Given the description of an element on the screen output the (x, y) to click on. 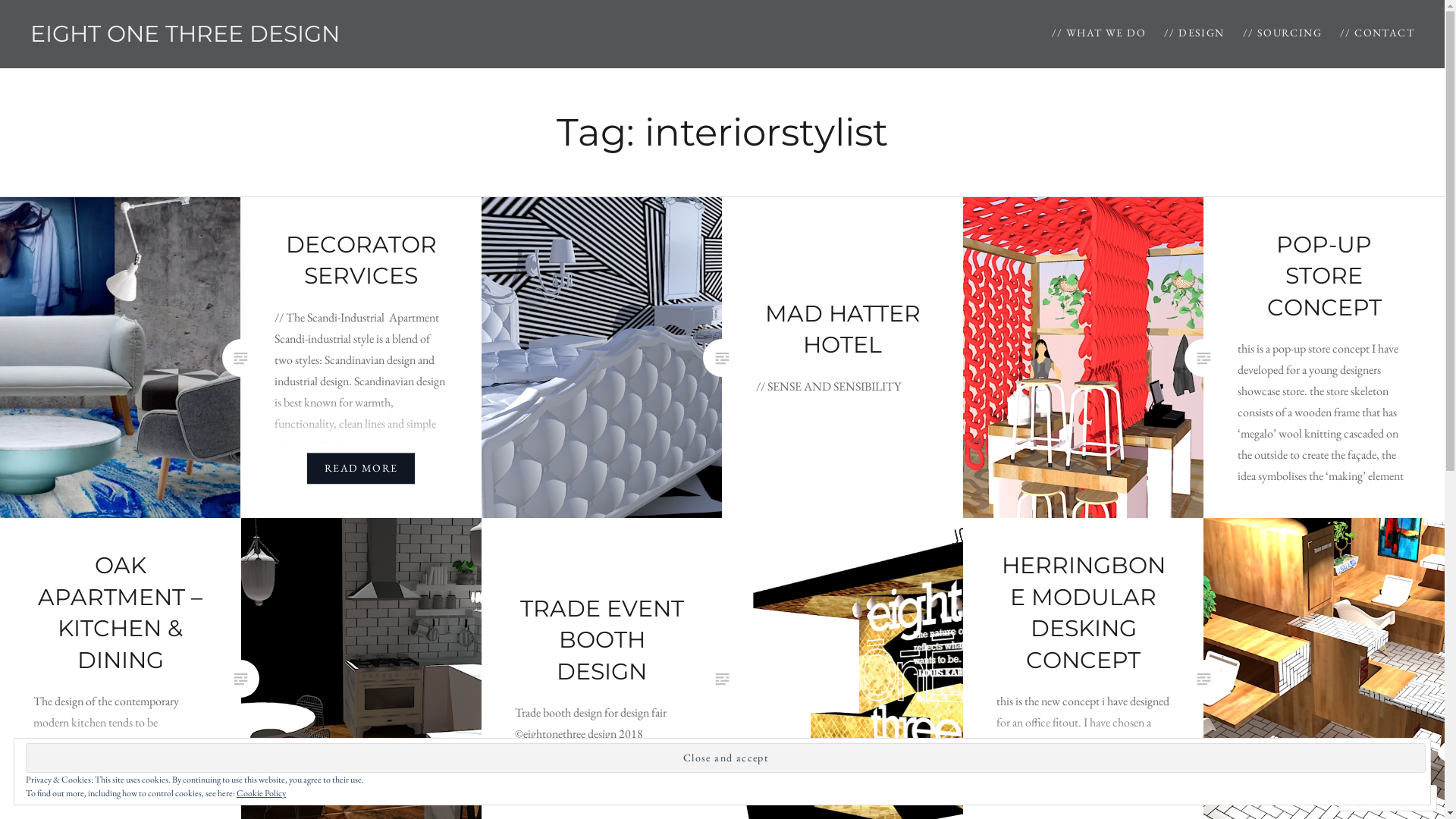
READ MORE Element type: text (360, 468)
POP-UP STORE CONCEPT Element type: text (1324, 275)
EIGHT ONE THREE DESIGN Element type: text (184, 33)
READ MORE Element type: text (120, 789)
// WHAT WE DO Element type: text (1098, 32)
TRADE EVENT BOOTH DESIGN Element type: text (602, 638)
// DESIGN Element type: text (1194, 32)
MAD HATTER HOTEL Element type: text (842, 328)
// SOURCING Element type: text (1281, 32)
READ MORE Element type: text (1083, 789)
Follow Element type: text (1372, 797)
// CONTACT Element type: text (1376, 32)
Cookie Policy Element type: text (260, 793)
HERRINGBONE MODULAR DESKING CONCEPT Element type: text (1083, 613)
DECORATOR SERVICES Element type: text (360, 259)
Close and accept Element type: text (725, 757)
